Given the description of an element on the screen output the (x, y) to click on. 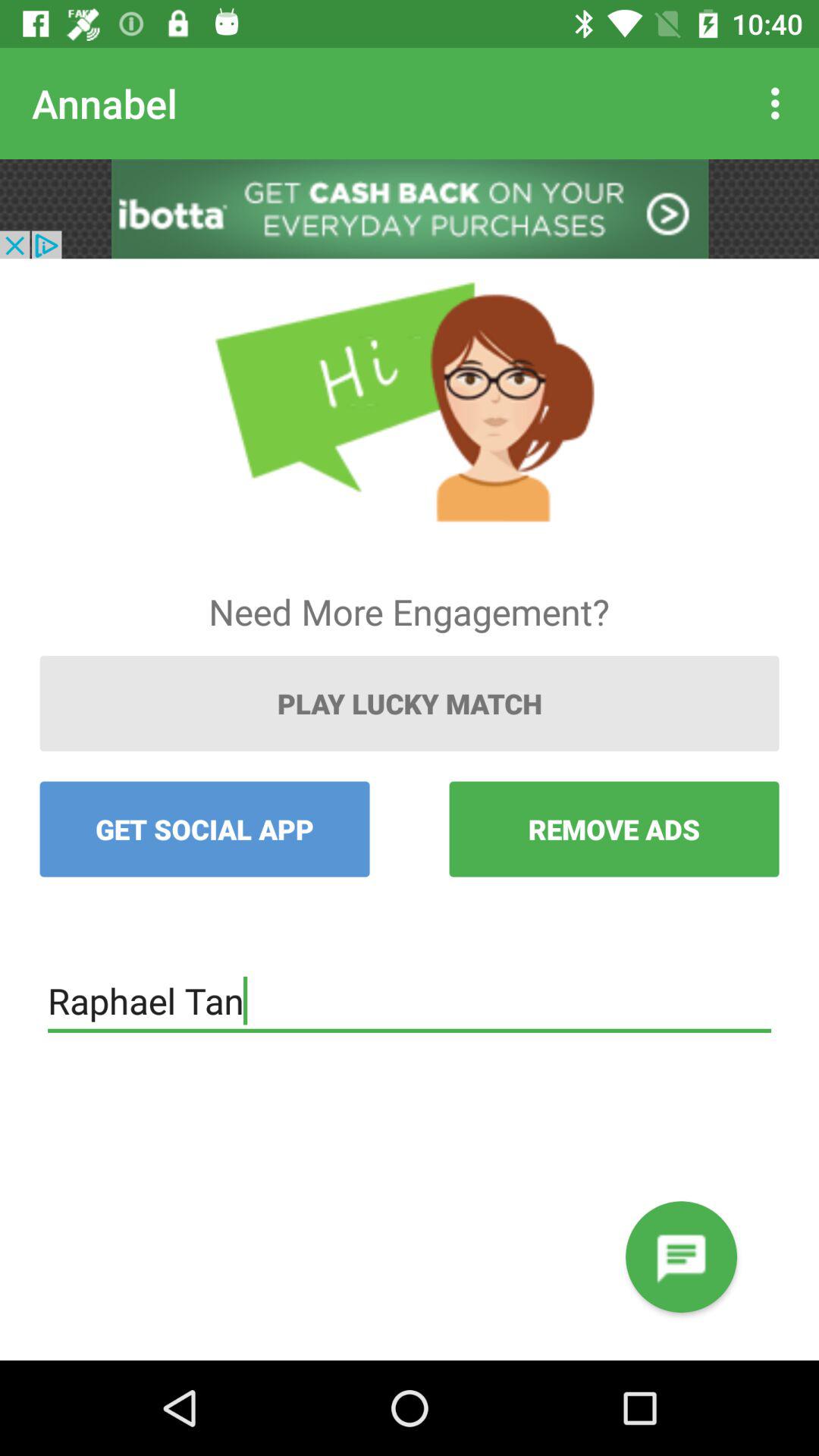
advertising (409, 208)
